Given the description of an element on the screen output the (x, y) to click on. 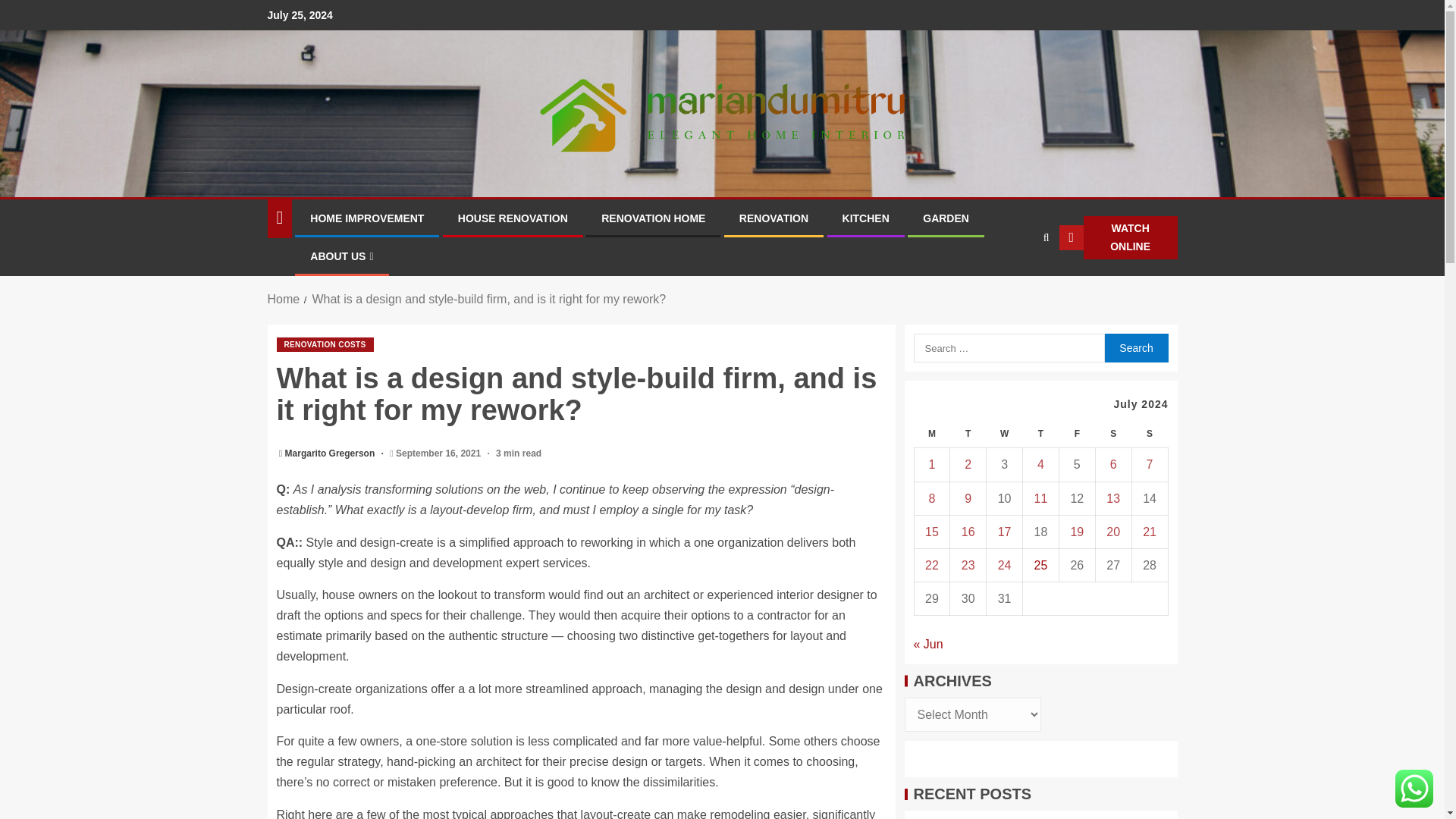
ABOUT US (341, 256)
HOME IMPROVEMENT (366, 218)
RENOVATION (773, 218)
KITCHEN (866, 218)
GARDEN (946, 218)
Search (1135, 347)
Home (282, 298)
Sunday (1149, 433)
WATCH ONLINE (1118, 238)
RENOVATION COSTS (324, 344)
Margarito Gregerson (331, 452)
Search (1015, 284)
Tuesday (968, 433)
Saturday (1112, 433)
Friday (1076, 433)
